Given the description of an element on the screen output the (x, y) to click on. 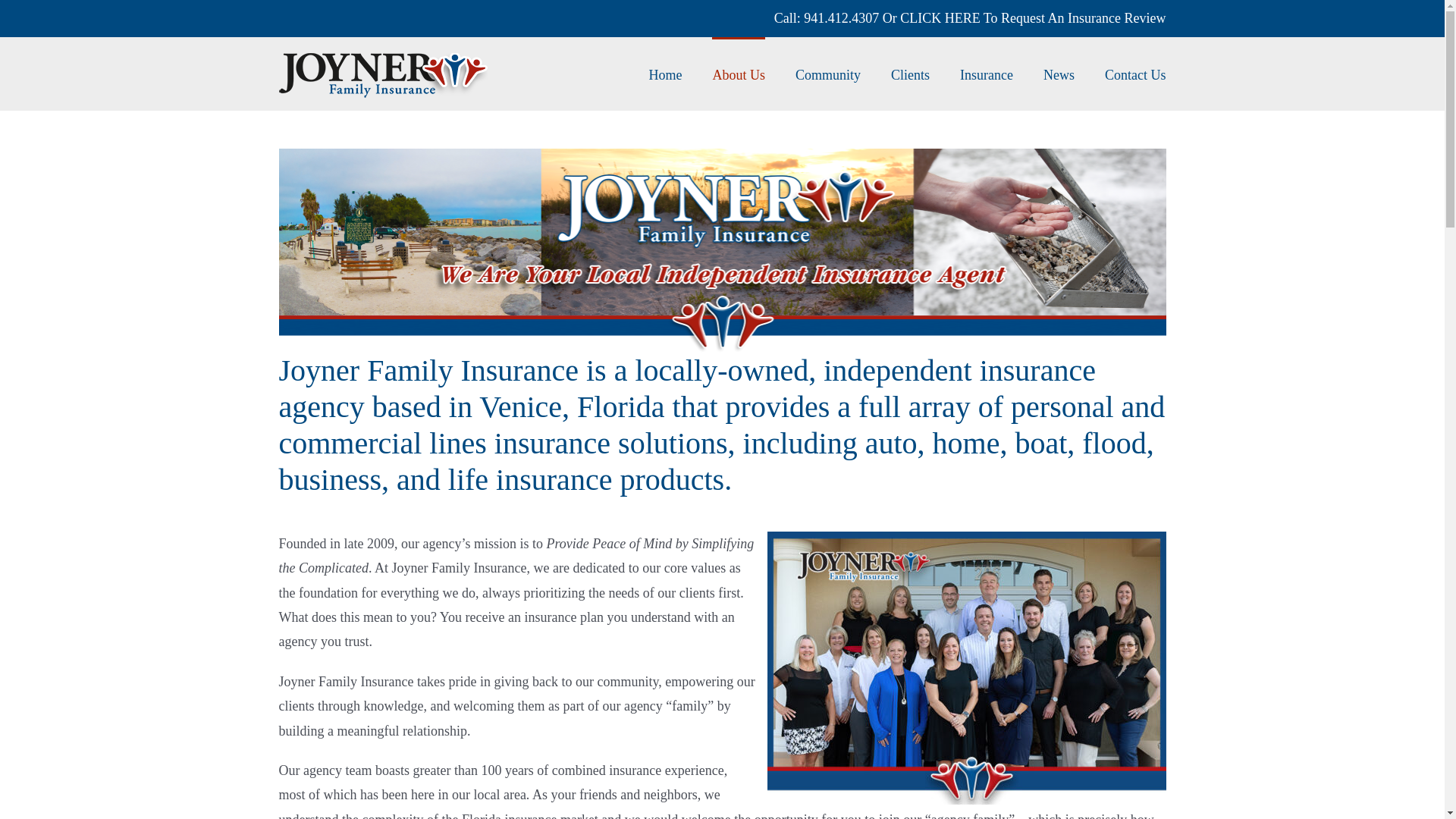
Clients (910, 72)
About Us (738, 72)
News (1058, 72)
Community (827, 72)
Home (664, 72)
Contact Us (1135, 72)
CLICK HERE To Request An Insurance Review (1032, 17)
Insurance (986, 72)
